Given the description of an element on the screen output the (x, y) to click on. 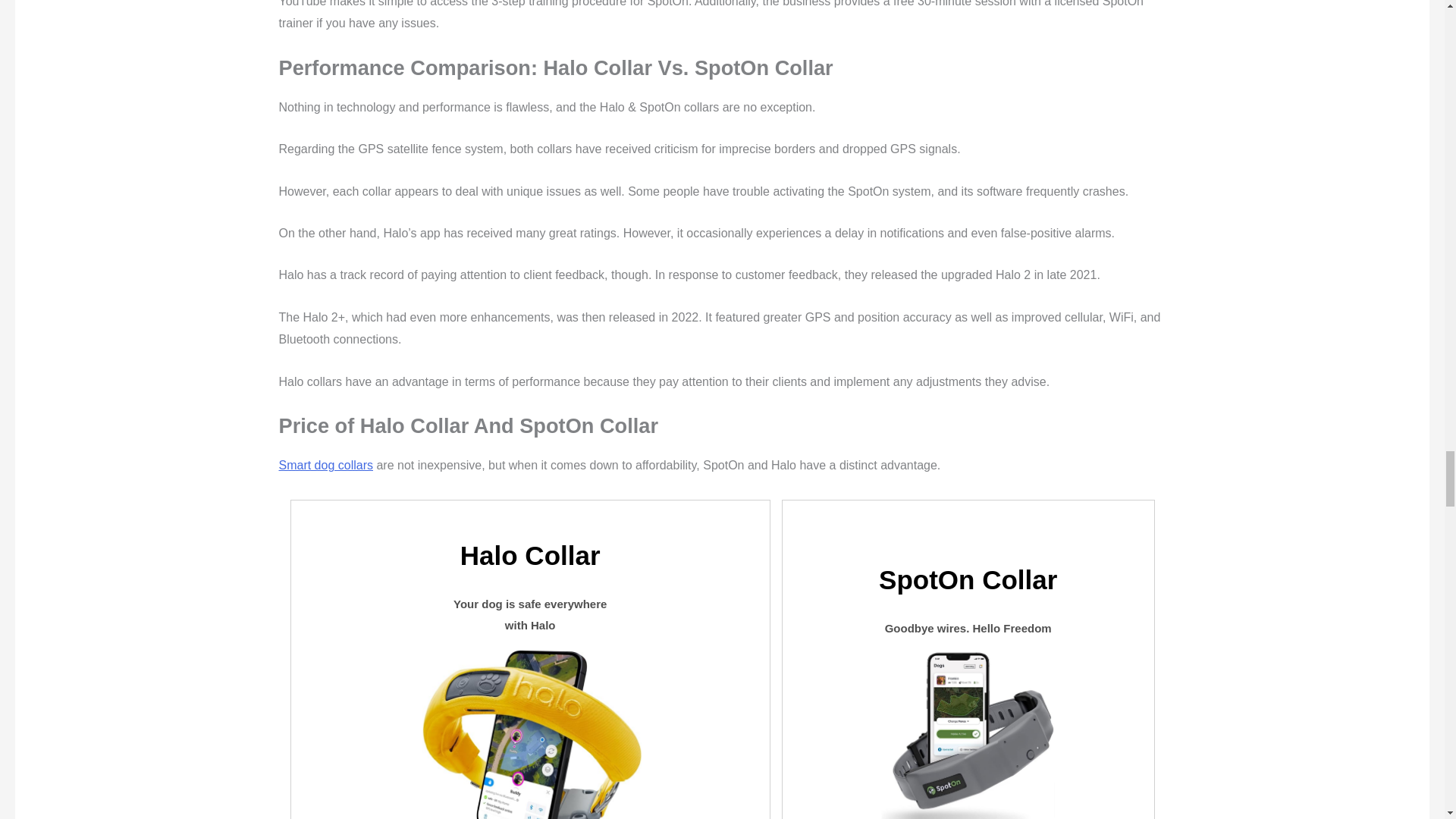
Smart dog collars (326, 464)
